Given the description of an element on the screen output the (x, y) to click on. 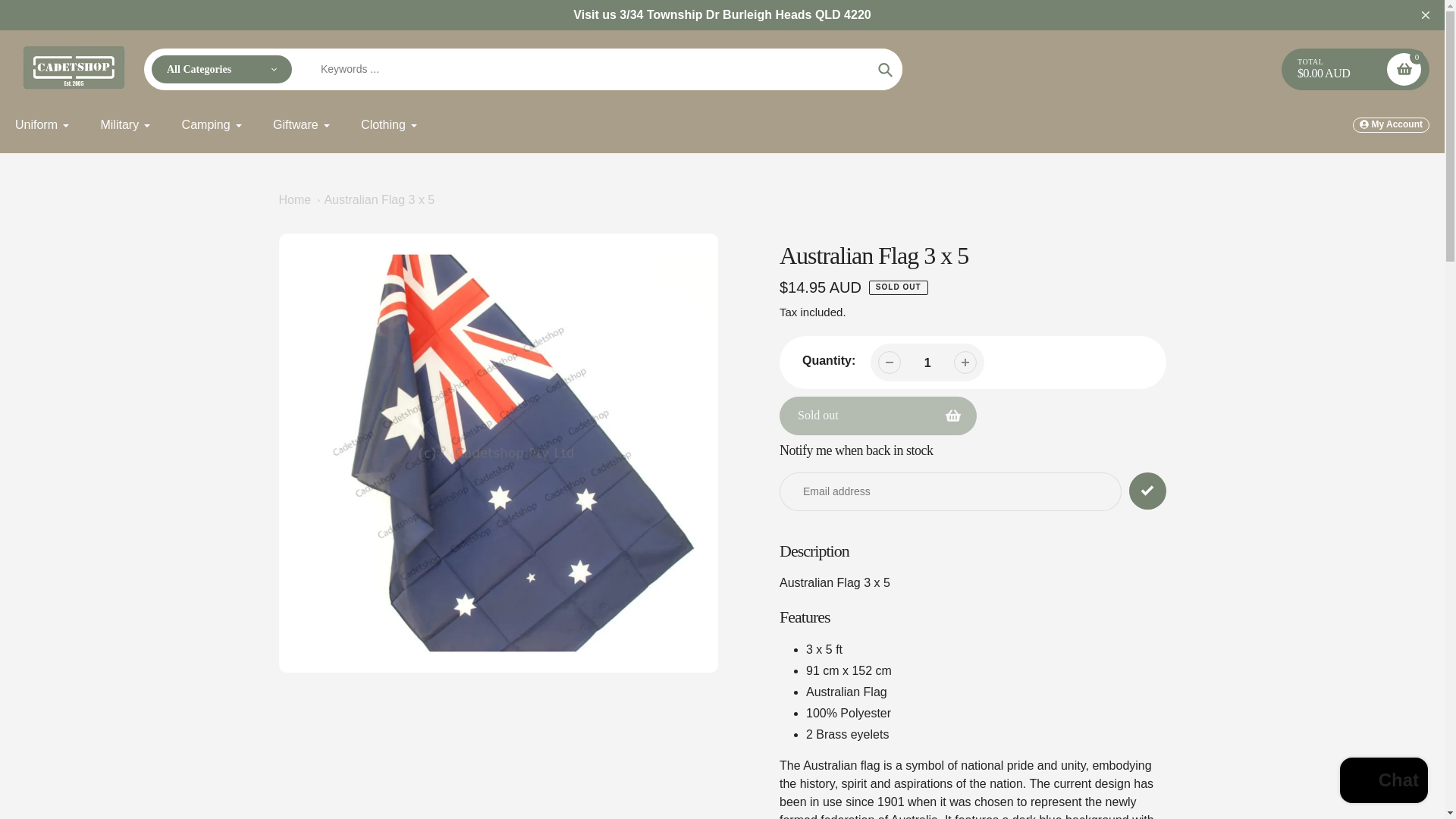
Shopify online store chat (1383, 781)
All Categories (221, 69)
1 (927, 362)
